Given the description of an element on the screen output the (x, y) to click on. 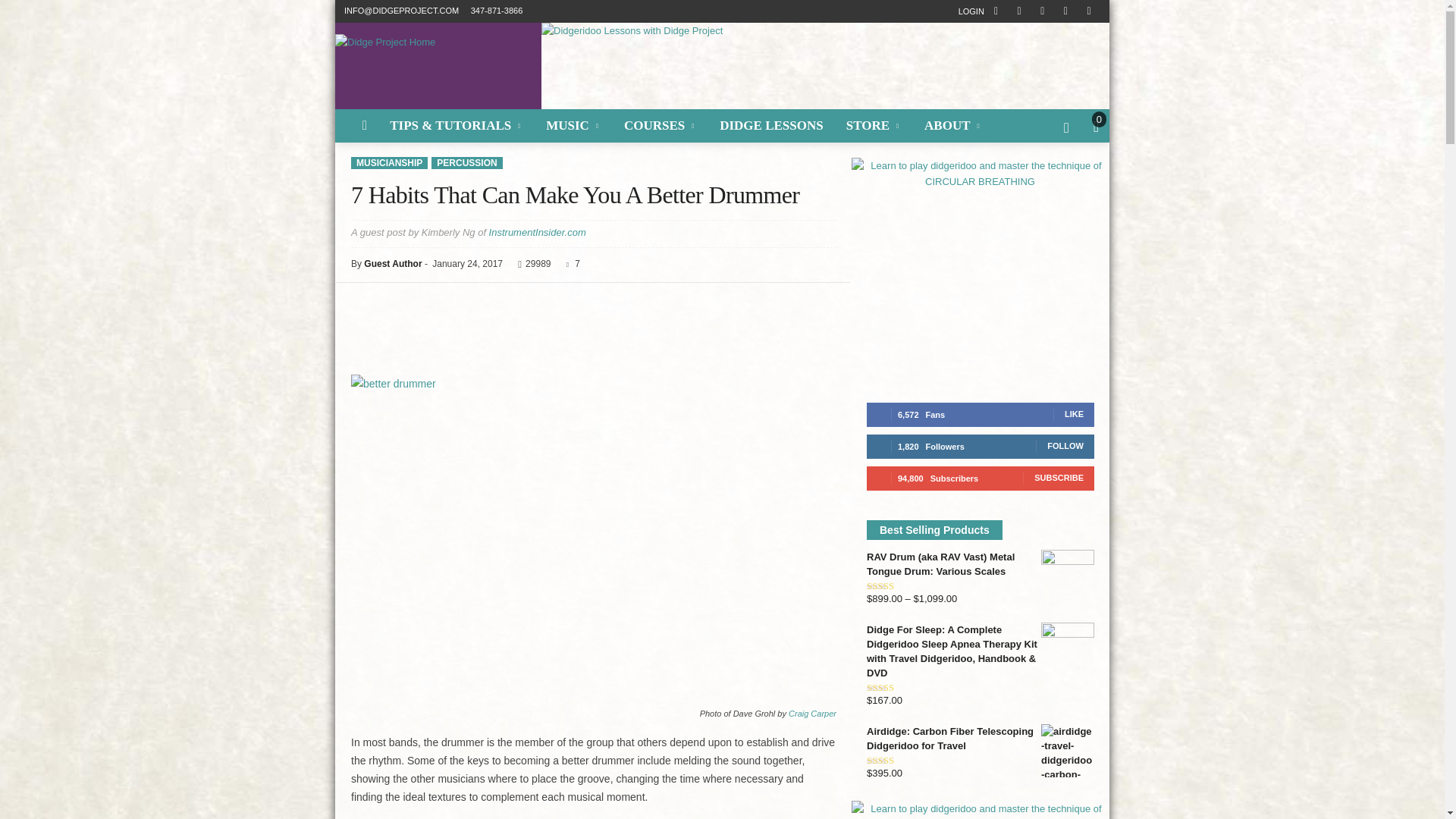
Login (971, 10)
347-871-3866 (496, 10)
Didgeridoo Lessons with Didge Project (825, 65)
